Given the description of an element on the screen output the (x, y) to click on. 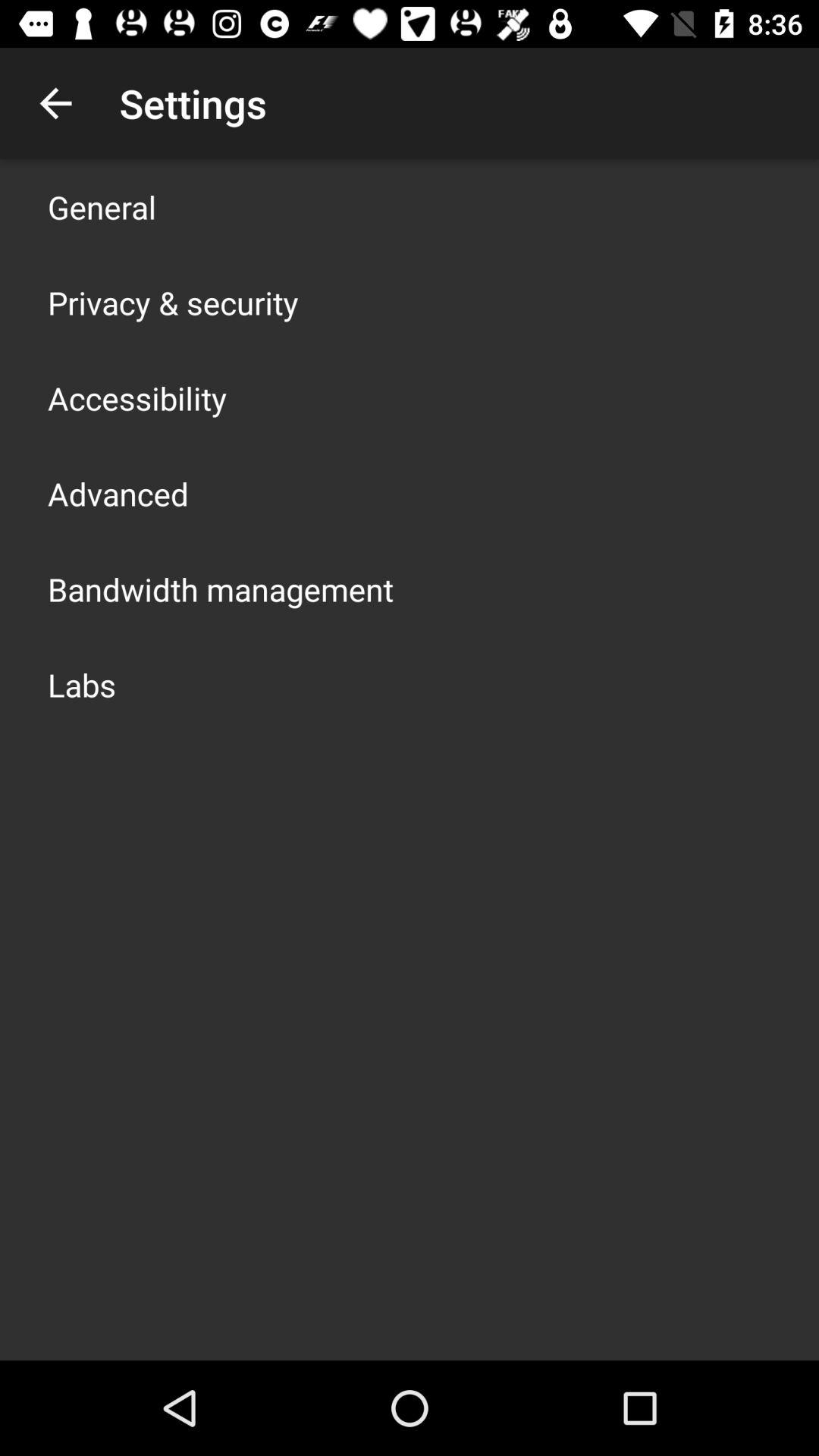
select the item next to the settings (55, 103)
